Given the description of an element on the screen output the (x, y) to click on. 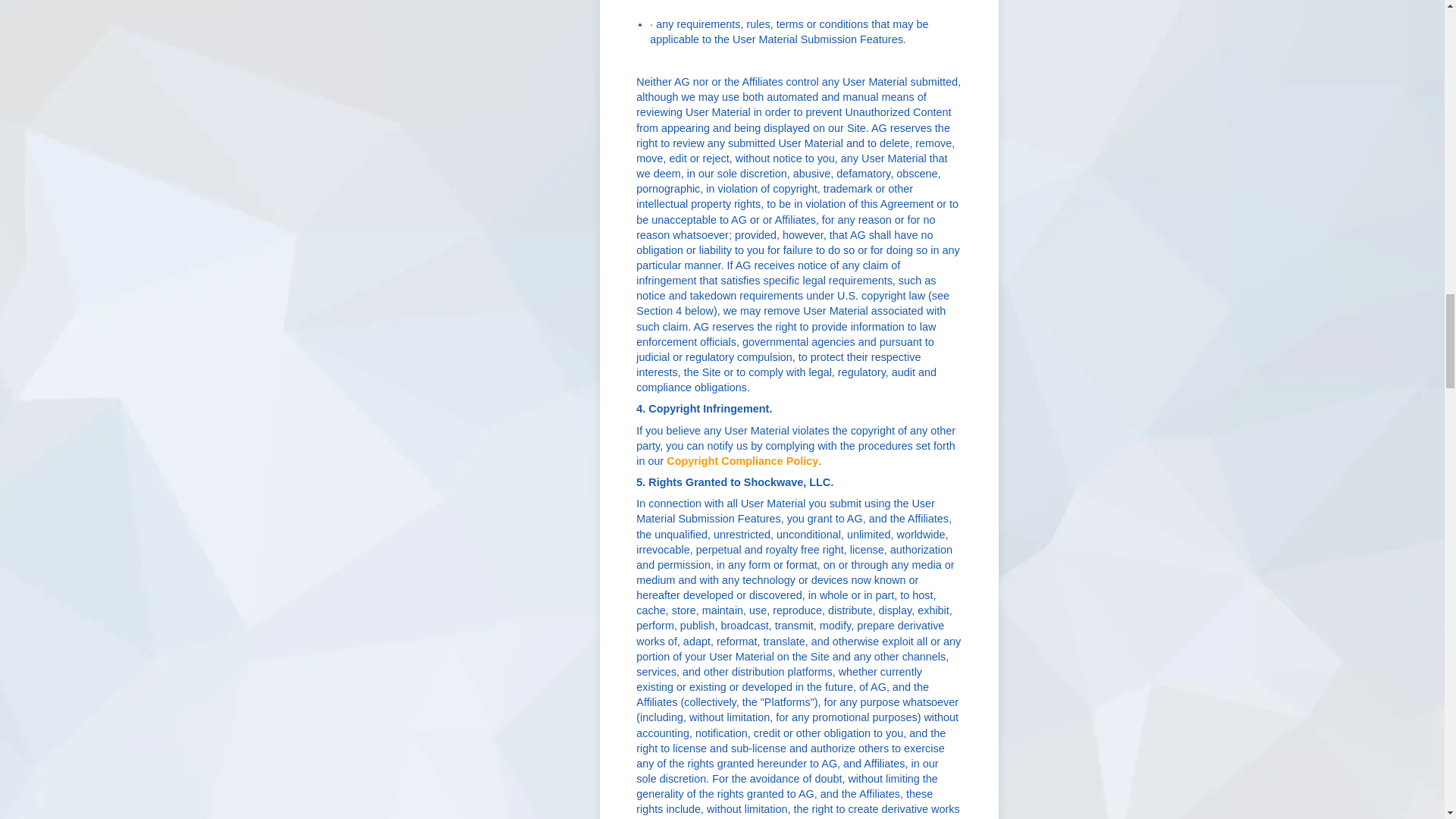
Copyright Compliance Policy (742, 460)
